Given the description of an element on the screen output the (x, y) to click on. 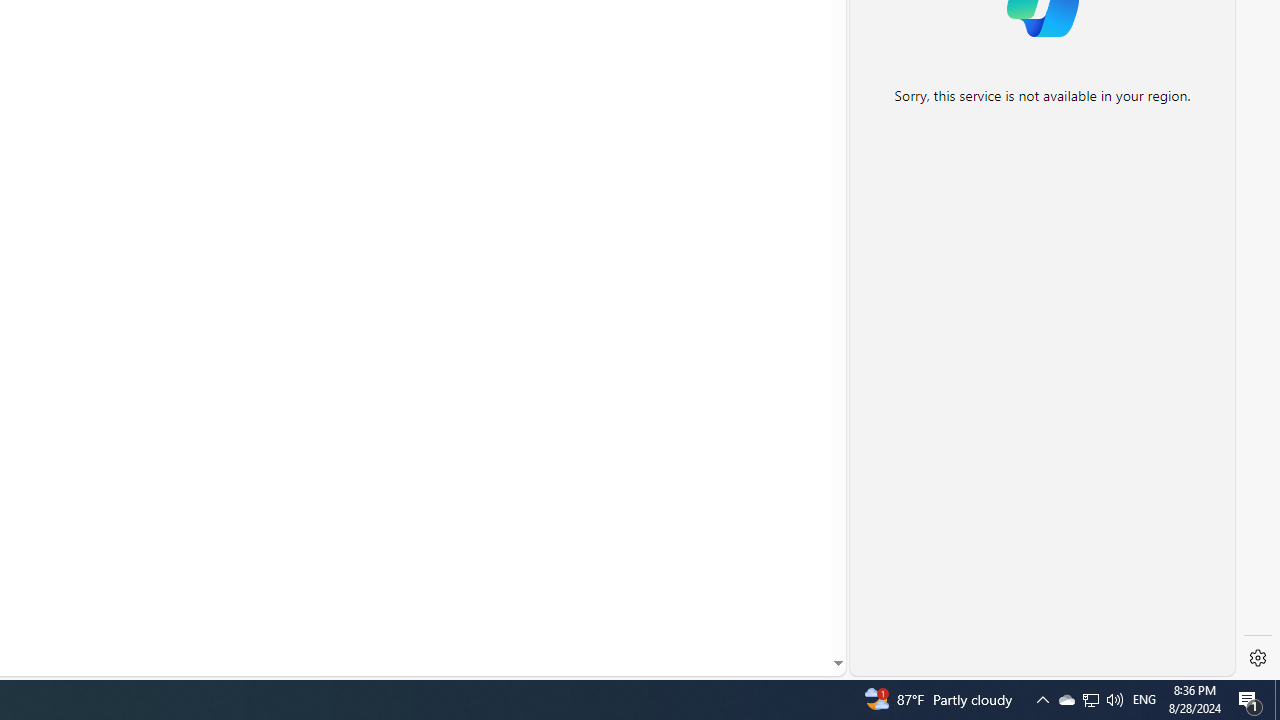
Settings (1258, 658)
